Given the description of an element on the screen output the (x, y) to click on. 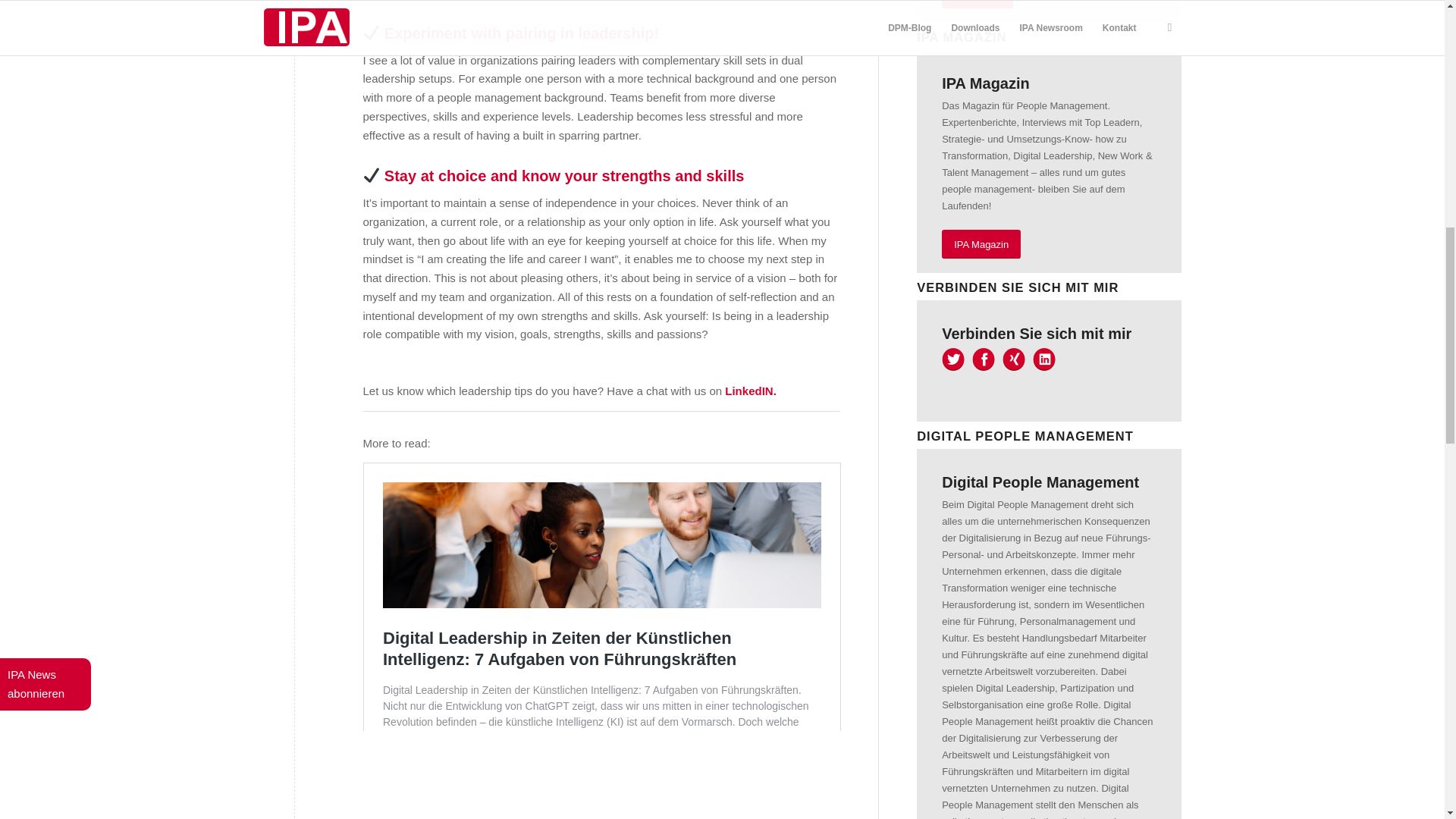
Mehr Infos (976, 4)
LinkedIN (747, 390)
IPA Magazin (981, 244)
